Given the description of an element on the screen output the (x, y) to click on. 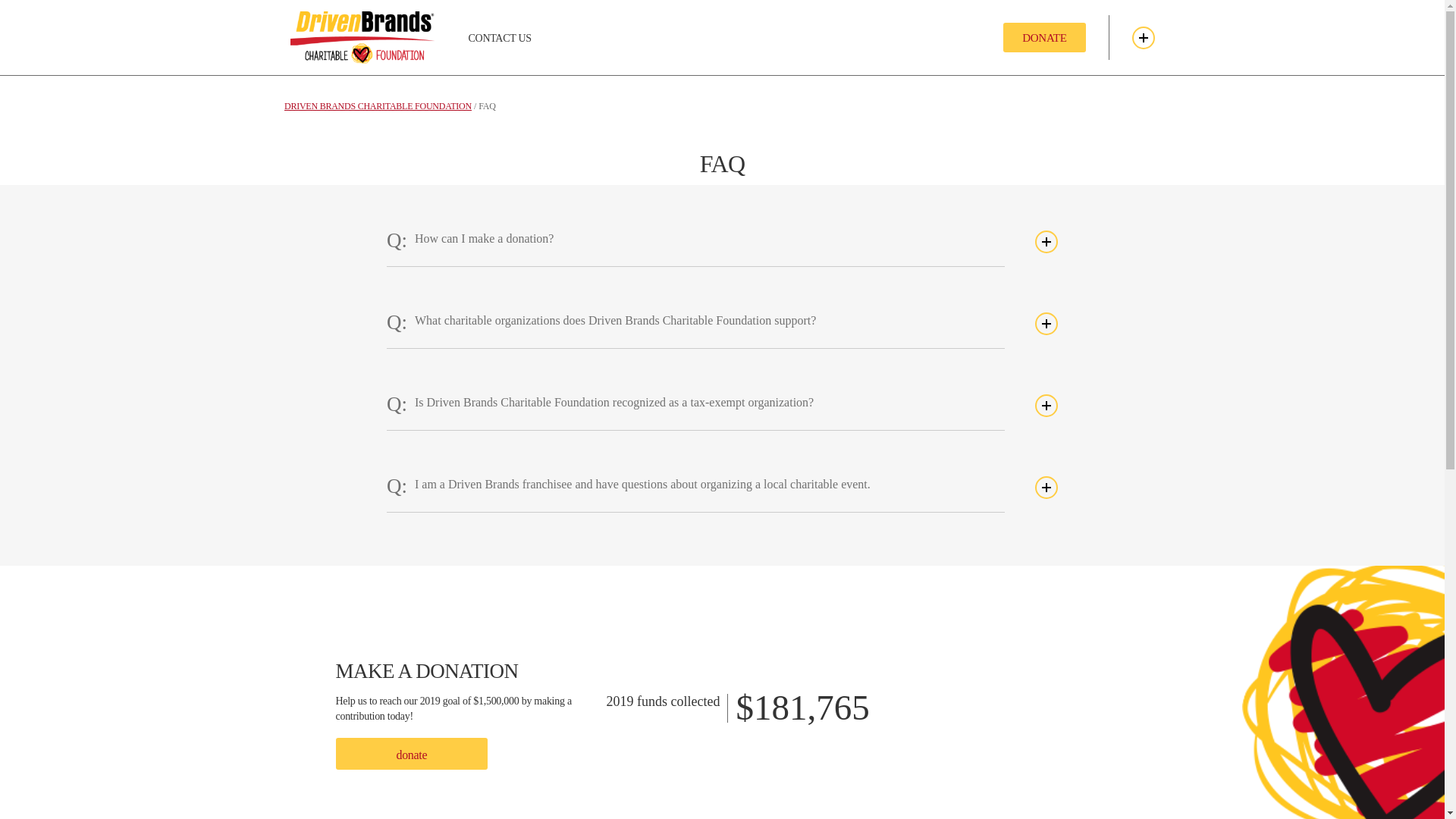
Toggle secondary navigation (1142, 36)
FAQ (487, 105)
CONTACT US (499, 37)
Driven Brands Charitable Foundation (377, 105)
DONATE (1043, 36)
donate (410, 753)
DRIVEN BRANDS CHARITABLE FOUNDATION (377, 105)
